Given the description of an element on the screen output the (x, y) to click on. 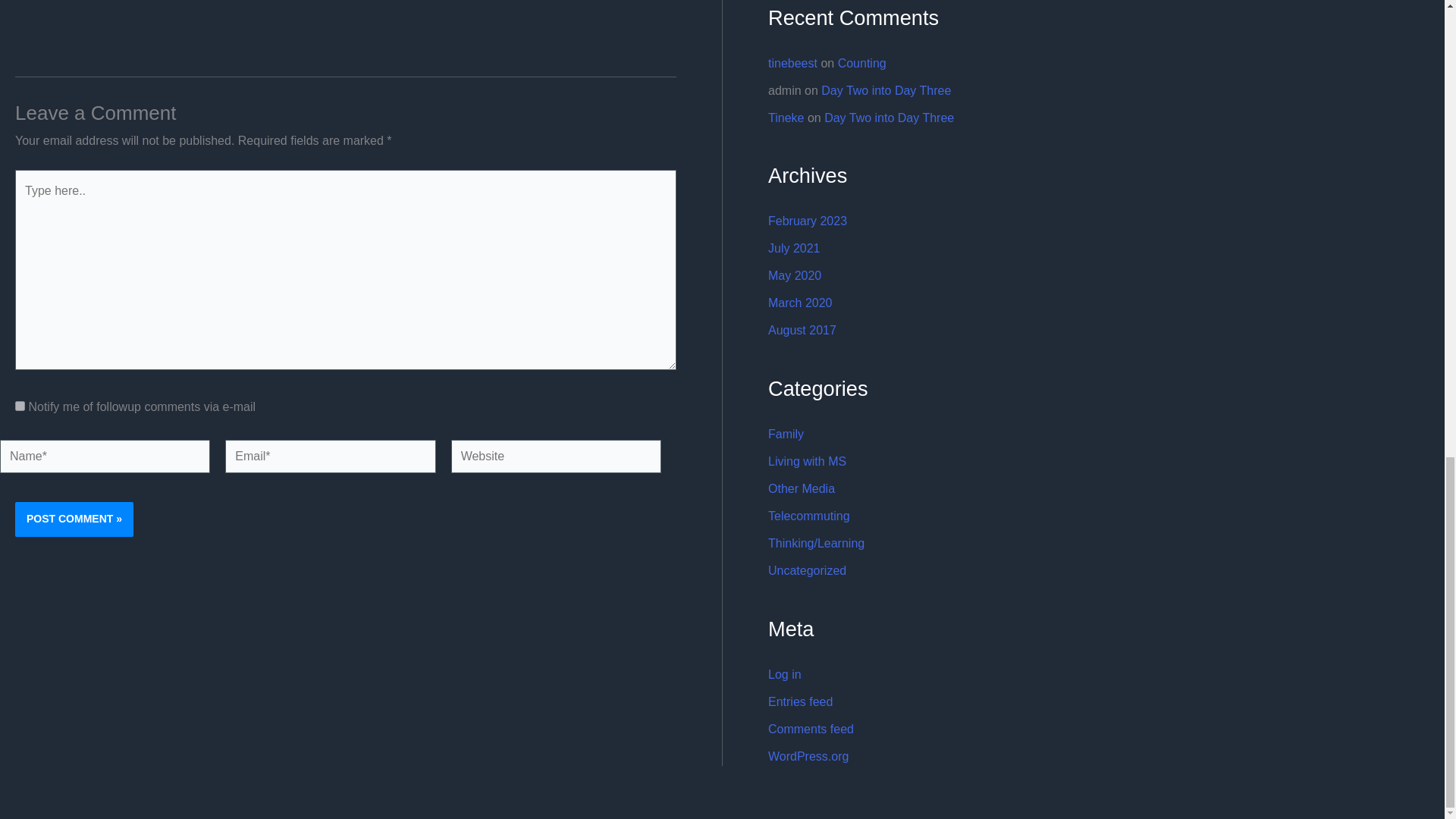
February 2023 (807, 220)
Day Two into Day Three (885, 90)
Telecommuting (809, 515)
Counting (862, 62)
July 2021 (794, 247)
subscribe (19, 406)
Family (785, 433)
August 2017 (801, 329)
March 2020 (800, 302)
Tineke (785, 117)
